Given the description of an element on the screen output the (x, y) to click on. 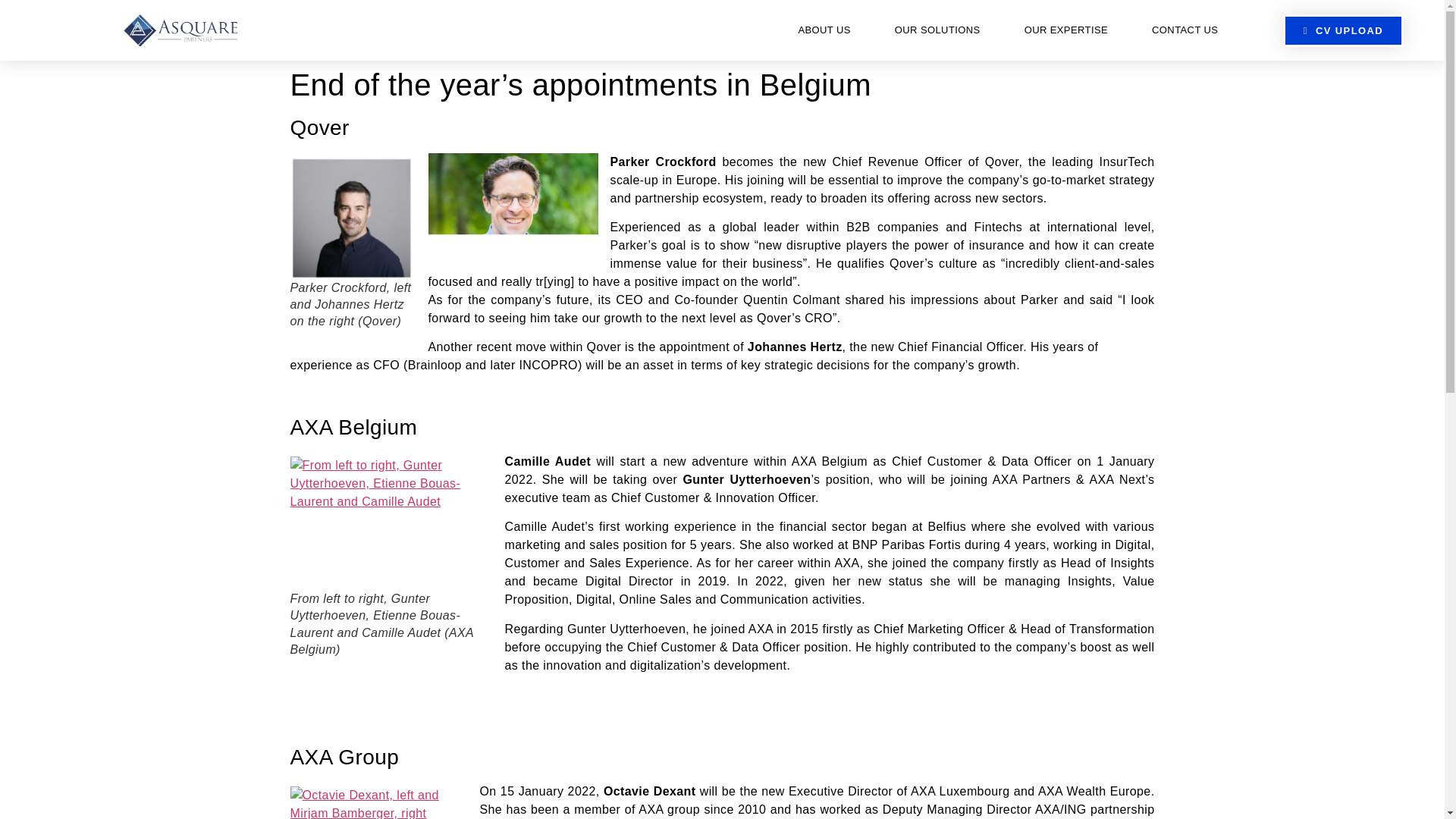
CV UPLOAD (1342, 29)
OUR EXPERTISE (1066, 30)
CONTACT US (1184, 30)
OUR SOLUTIONS (937, 30)
ABOUT US (824, 30)
